Given the description of an element on the screen output the (x, y) to click on. 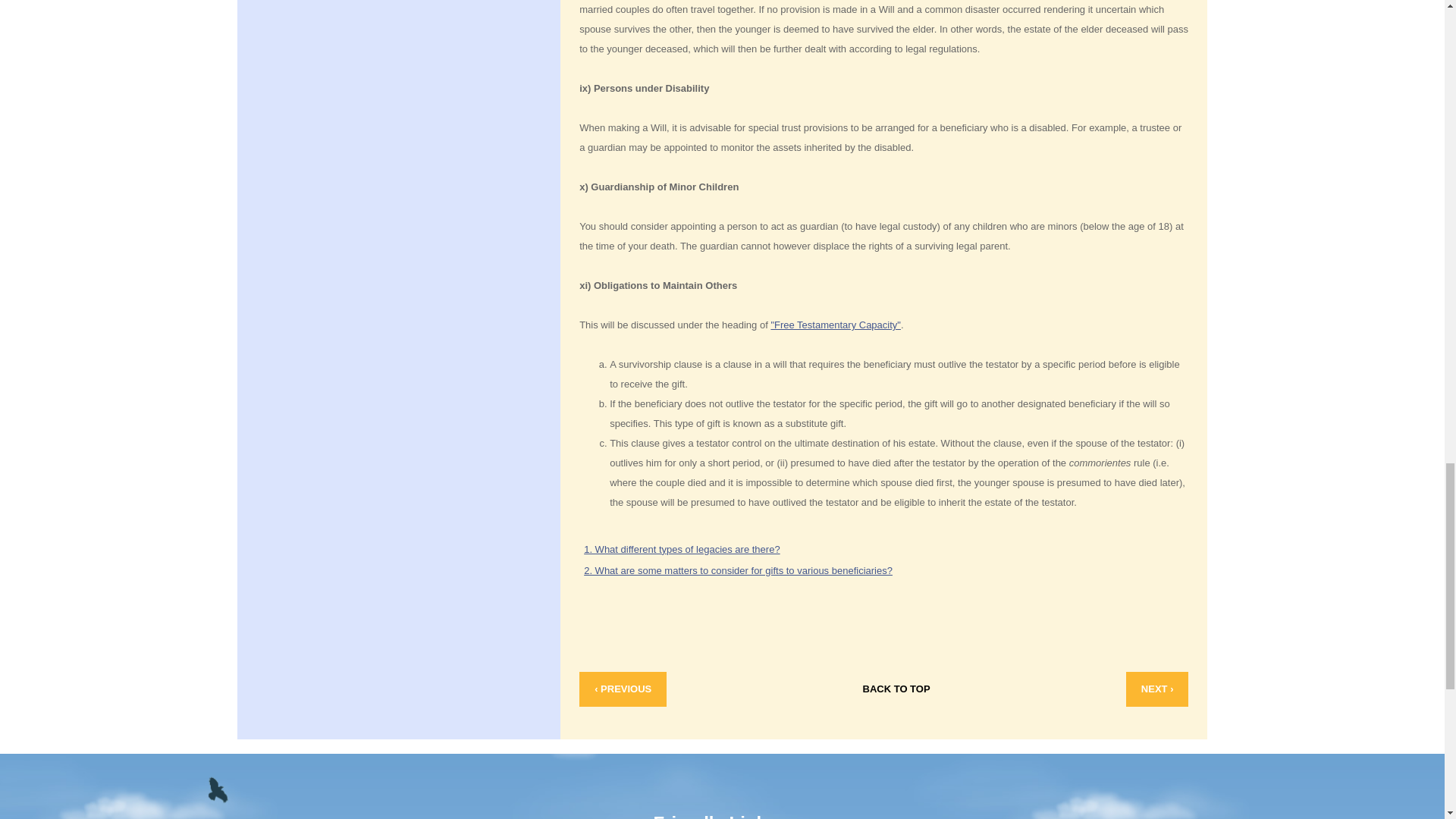
1. What different types of legacies are there? (680, 549)
"Free Testamentary Capacity" (835, 324)
Go to parent page (895, 688)
Go to previous page (622, 688)
BACK TO TOP (895, 688)
Go to next page (1157, 688)
